Given the description of an element on the screen output the (x, y) to click on. 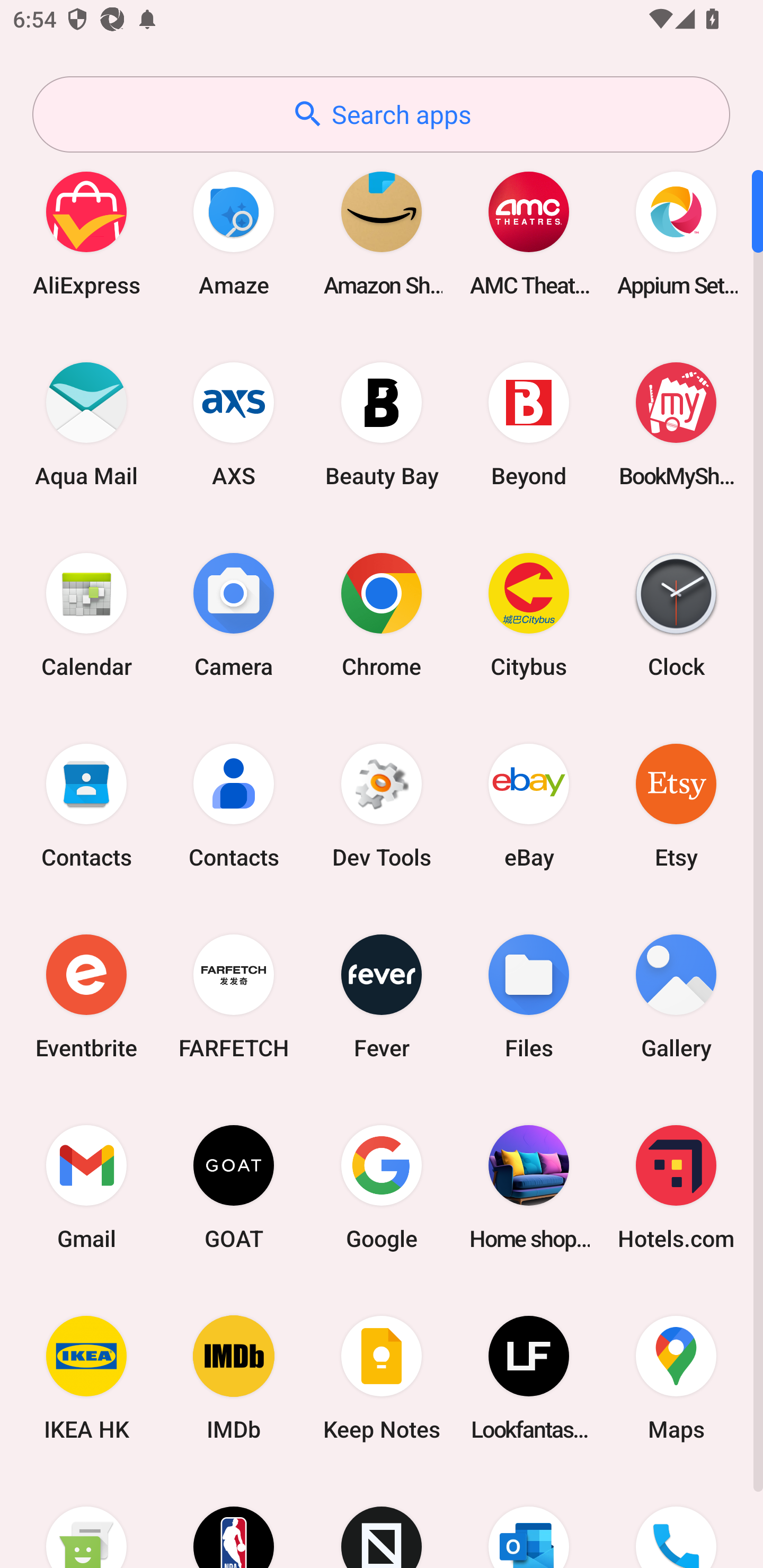
  Search apps (381, 114)
AliExpress (86, 233)
Amaze (233, 233)
Amazon Shopping (381, 233)
AMC Theatres (528, 233)
Appium Settings (676, 233)
Aqua Mail (86, 424)
AXS (233, 424)
Beauty Bay (381, 424)
Beyond (528, 424)
BookMyShow (676, 424)
Calendar (86, 614)
Camera (233, 614)
Chrome (381, 614)
Citybus (528, 614)
Clock (676, 614)
Contacts (86, 805)
Contacts (233, 805)
Dev Tools (381, 805)
eBay (528, 805)
Etsy (676, 805)
Eventbrite (86, 996)
FARFETCH (233, 996)
Fever (381, 996)
Files (528, 996)
Gallery (676, 996)
Gmail (86, 1186)
GOAT (233, 1186)
Google (381, 1186)
Home shopping (528, 1186)
Hotels.com (676, 1186)
IKEA HK (86, 1377)
IMDb (233, 1377)
Keep Notes (381, 1377)
Lookfantastic (528, 1377)
Maps (676, 1377)
